Given the description of an element on the screen output the (x, y) to click on. 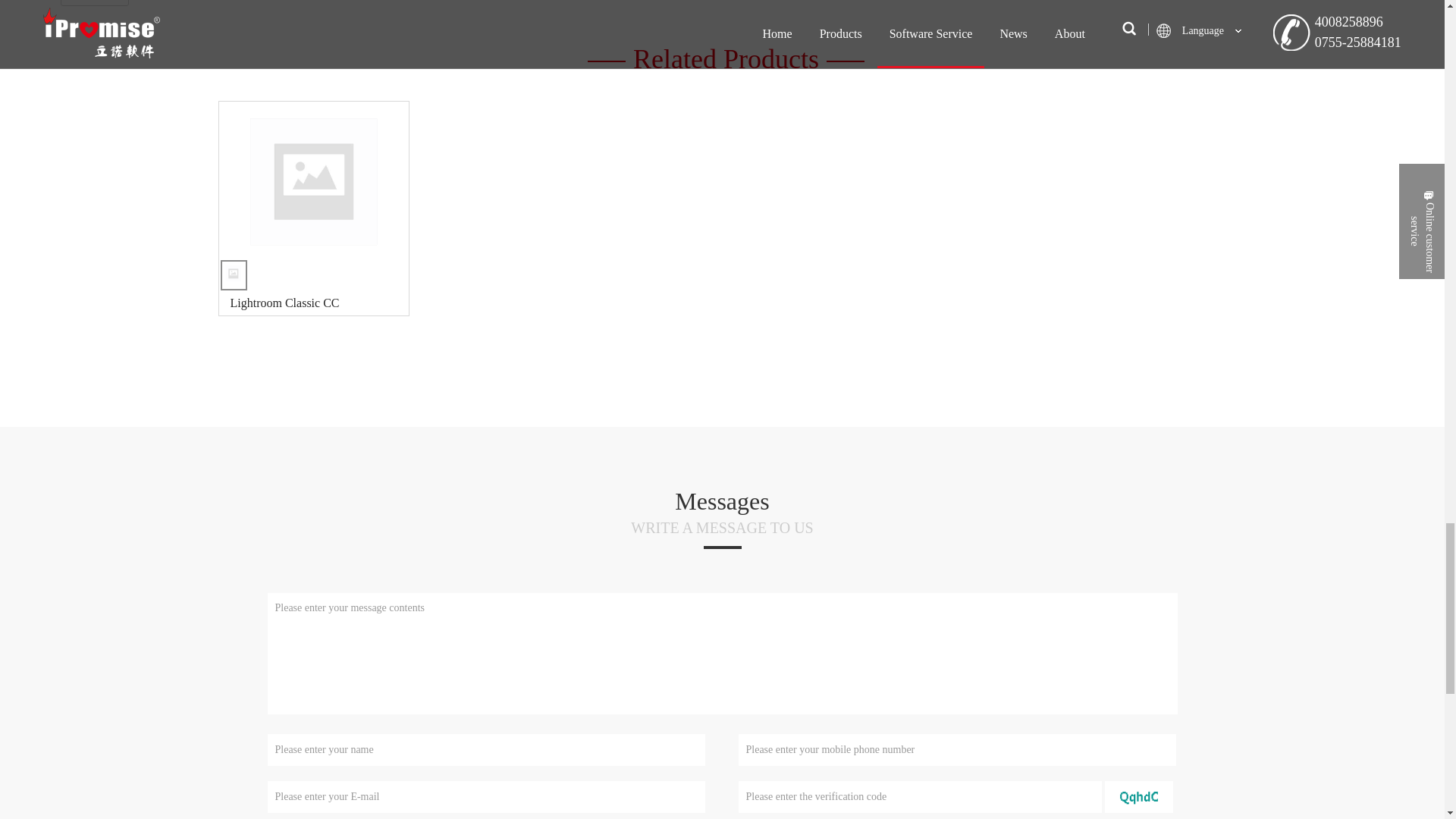
Lightroom Classic CC (319, 303)
